Given the description of an element on the screen output the (x, y) to click on. 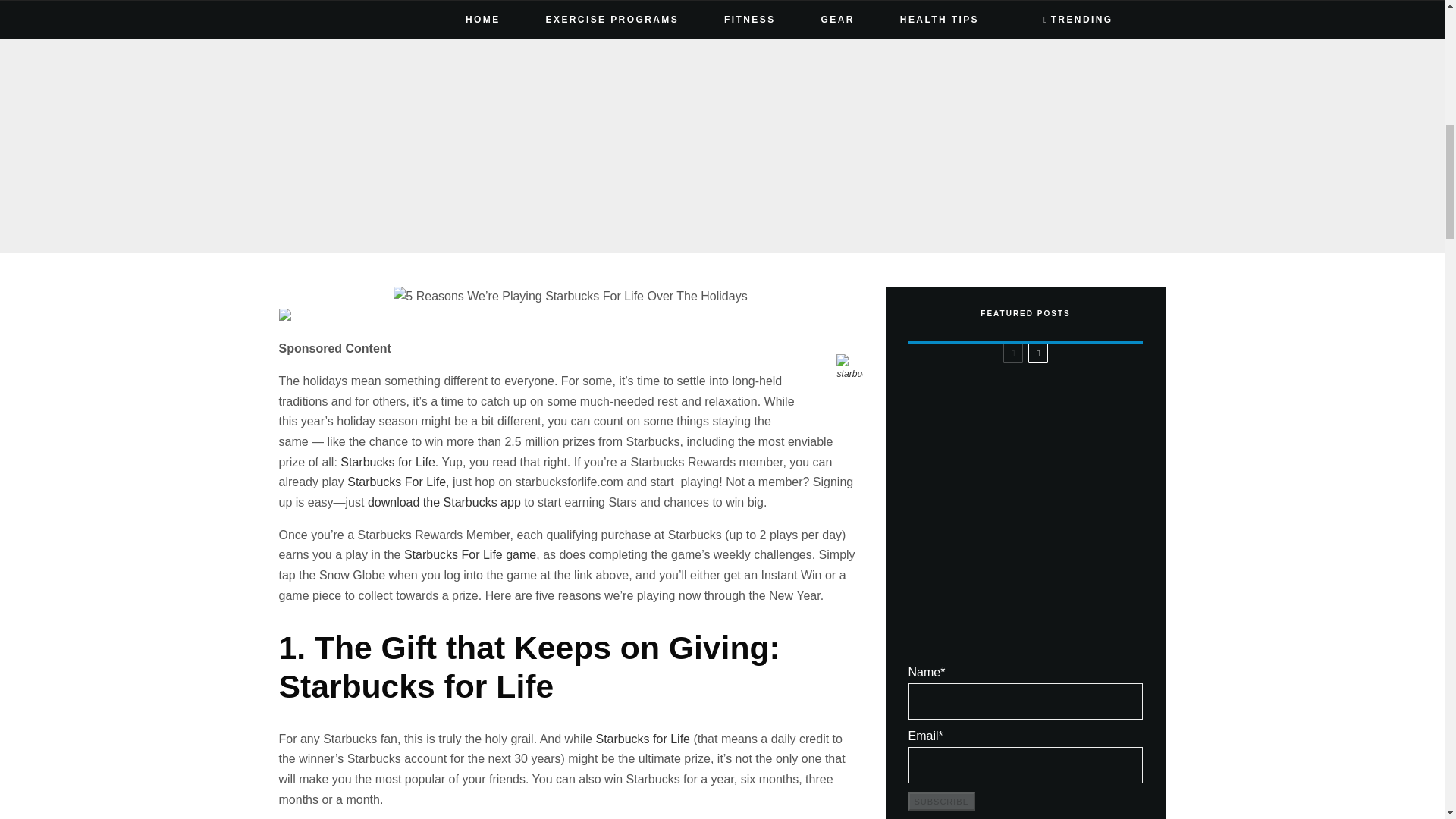
Subscribe (941, 800)
